Given the description of an element on the screen output the (x, y) to click on. 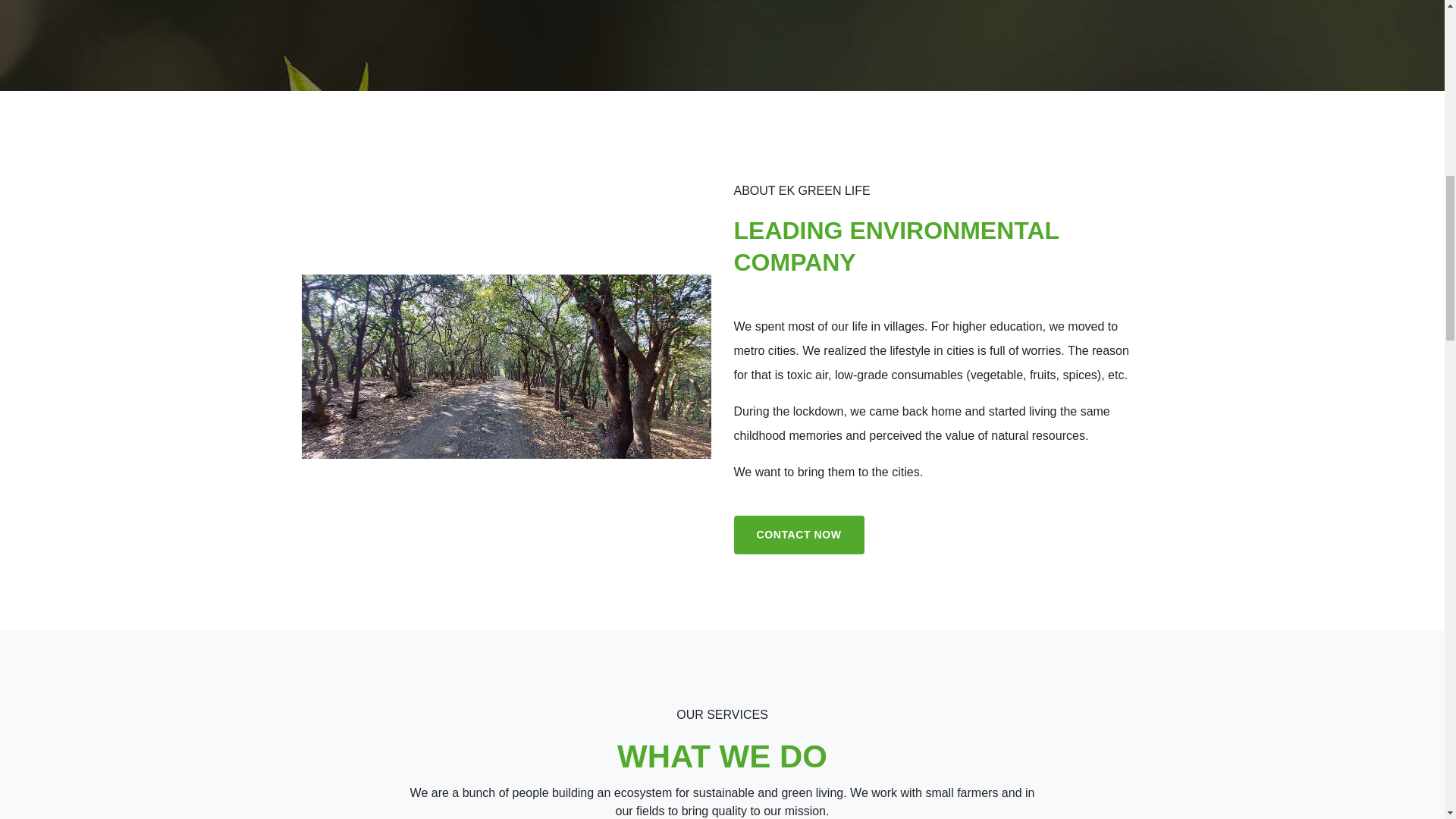
CONTACT NOW (798, 534)
